Given the description of an element on the screen output the (x, y) to click on. 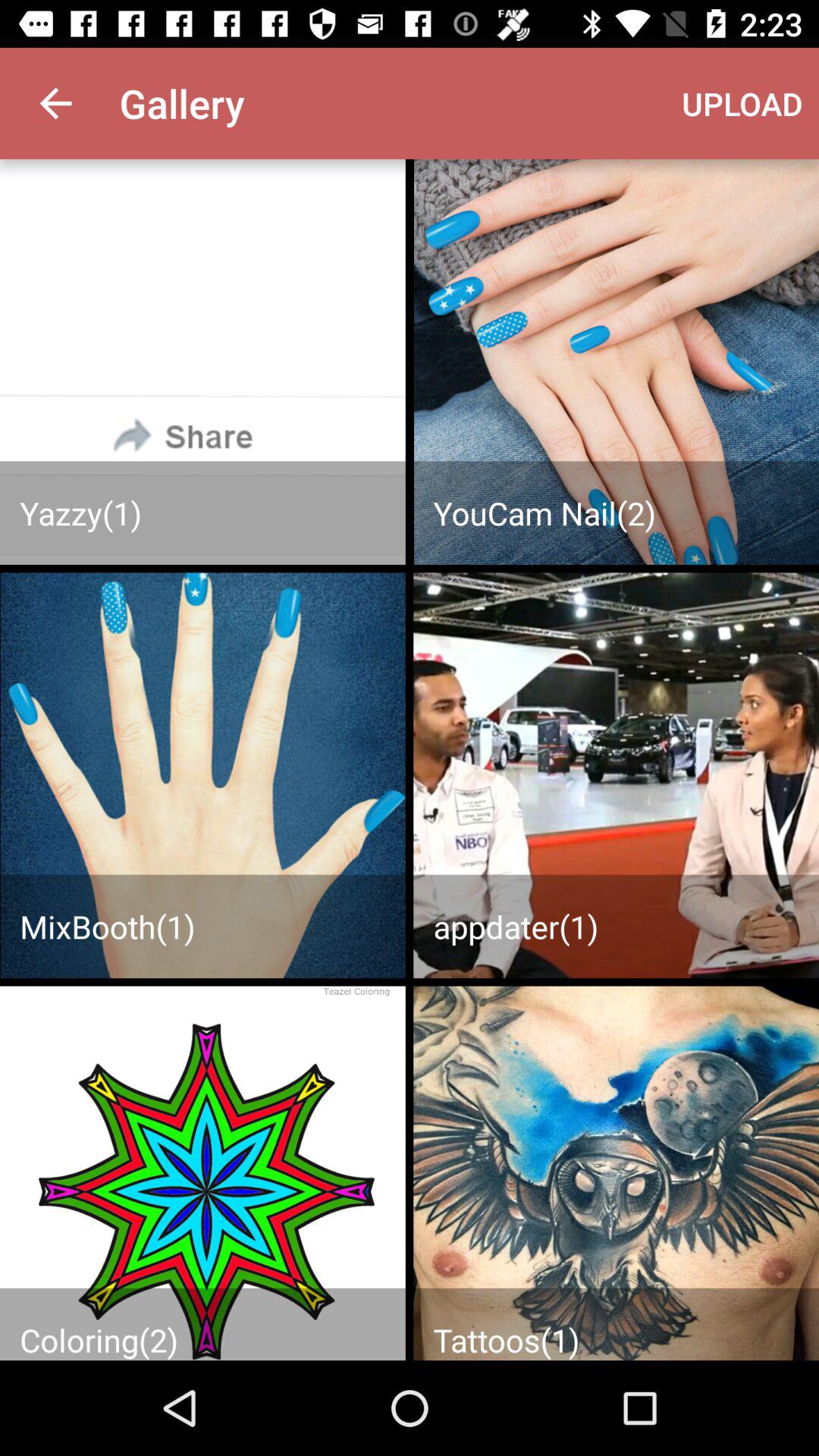
upload your images (616, 775)
